Given the description of an element on the screen output the (x, y) to click on. 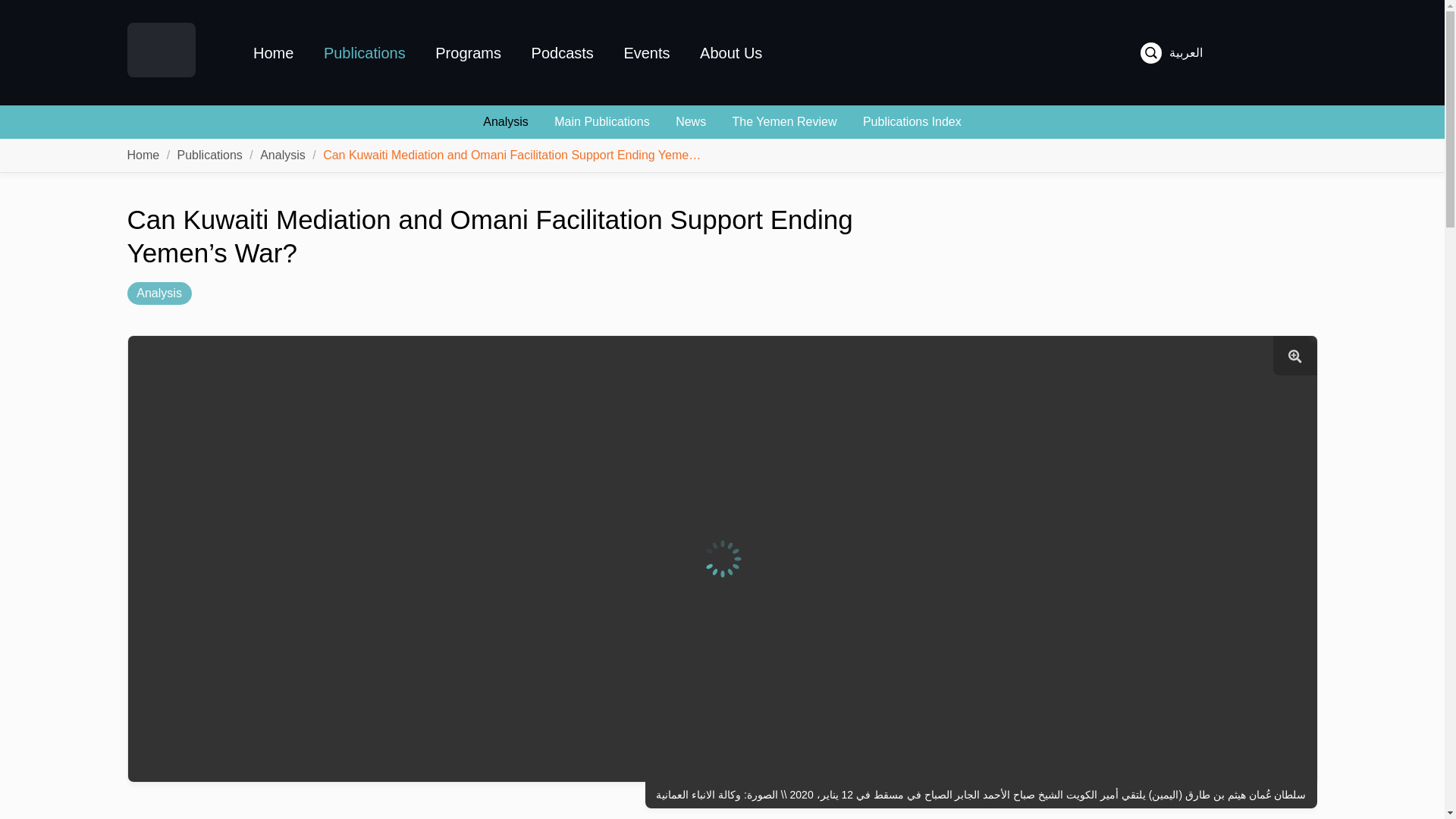
Publications Index (911, 122)
Home (273, 52)
Publications (210, 154)
About Us (730, 52)
Analysis (160, 292)
Events (646, 52)
Publications (210, 154)
Home (144, 154)
Home (144, 154)
The Yemen Review (784, 122)
